Given the description of an element on the screen output the (x, y) to click on. 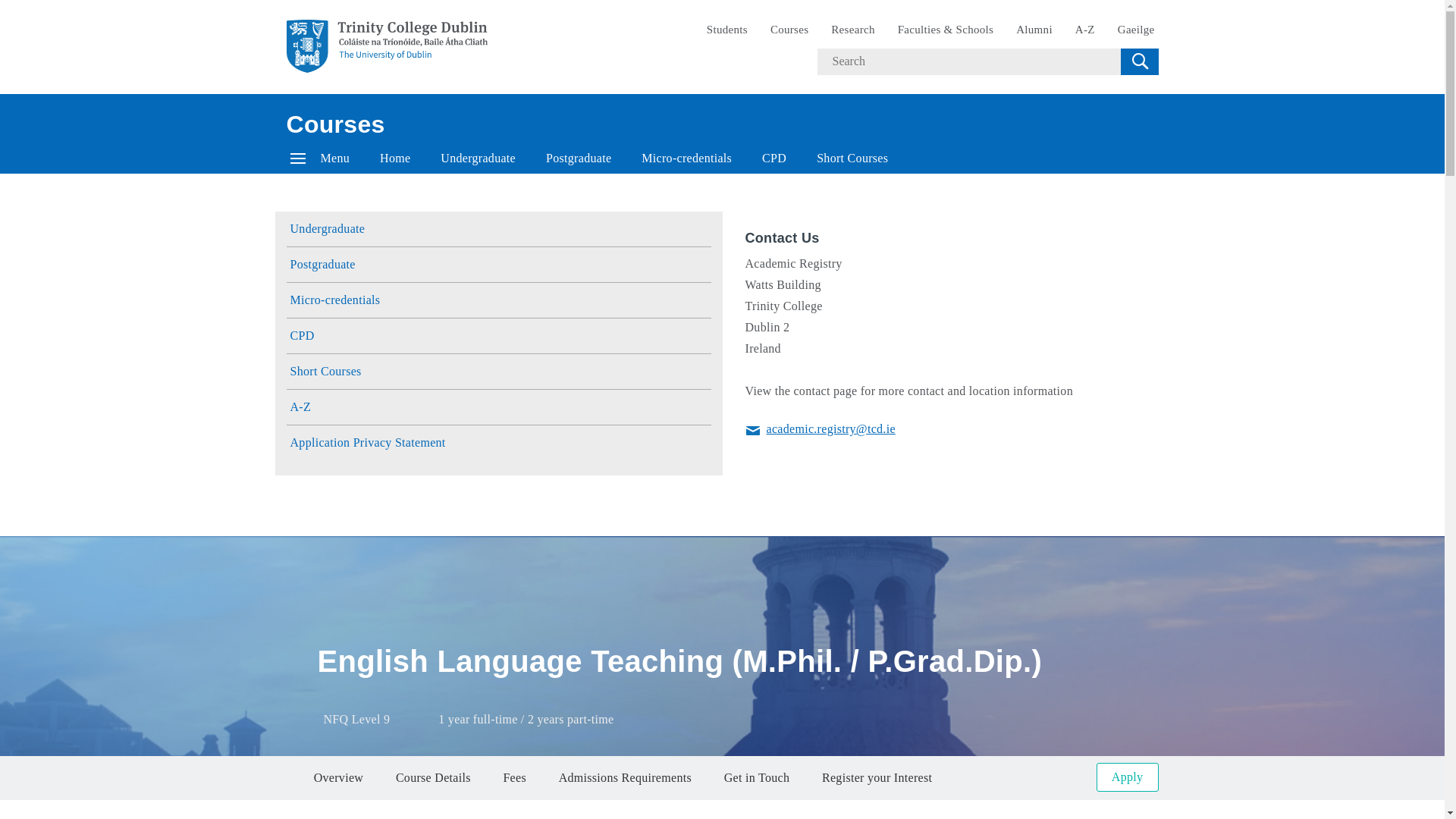
Postgraduate (578, 158)
Students (727, 29)
Gaeilge (1135, 29)
Micro-credentials (686, 158)
Courses (335, 123)
Research (852, 29)
A-Z (1085, 29)
Short Courses (852, 158)
Alumni (1034, 29)
Home (395, 158)
Search (1139, 61)
Menu (320, 158)
Courses (789, 29)
Undergraduate (478, 158)
Undergraduate (498, 229)
